Given the description of an element on the screen output the (x, y) to click on. 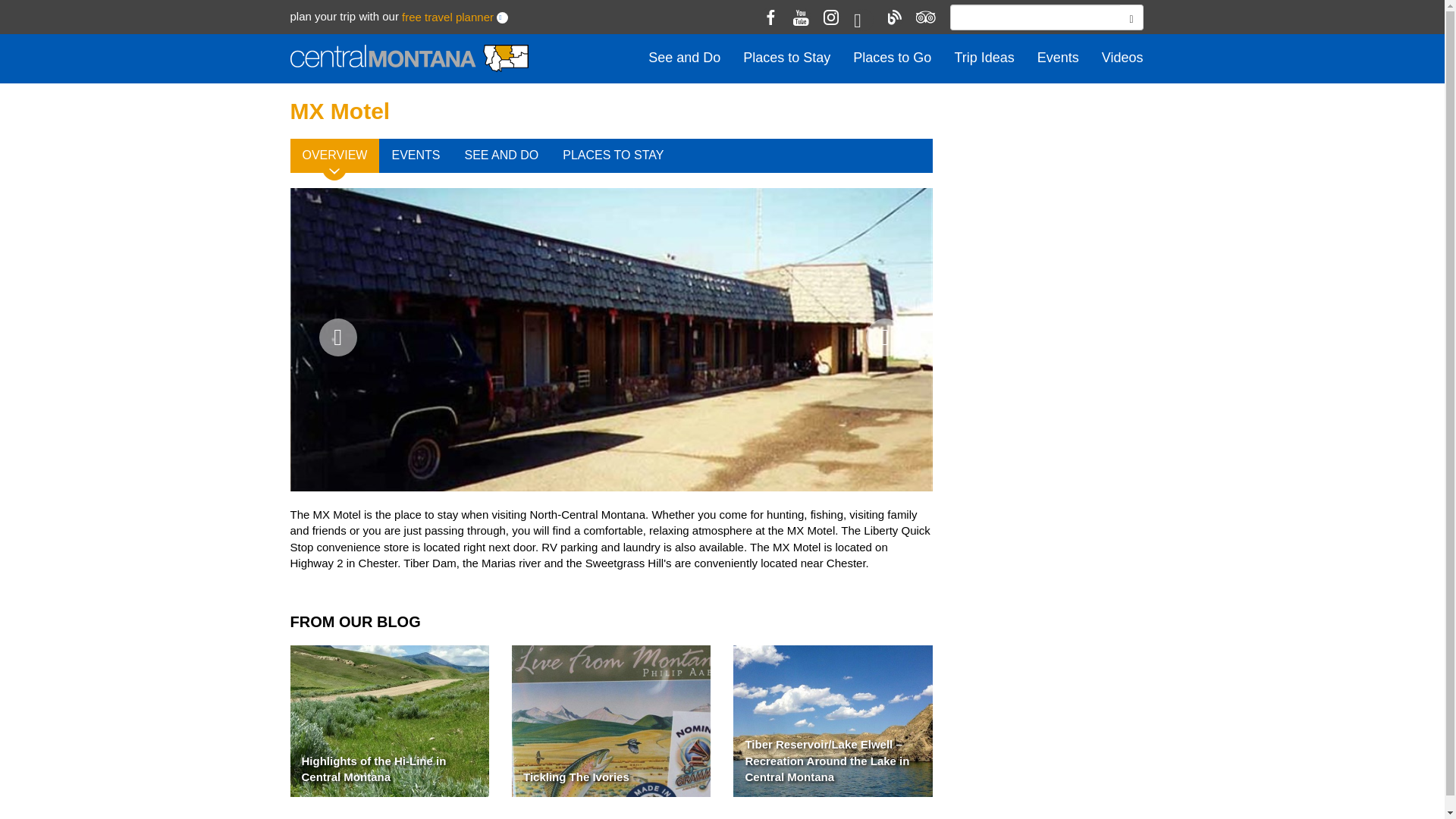
See and Do (684, 57)
View us on YouTube (800, 17)
Follow us on Twitter (862, 20)
Order Travel Planner (447, 16)
Central Montana Blog (893, 17)
Pin us on Instagram (831, 17)
Like us on Facebook (770, 17)
TripAdvisor Central Montana (924, 17)
Order Travel Planner (502, 17)
free travel planner (447, 16)
Central Montana (408, 58)
